Given the description of an element on the screen output the (x, y) to click on. 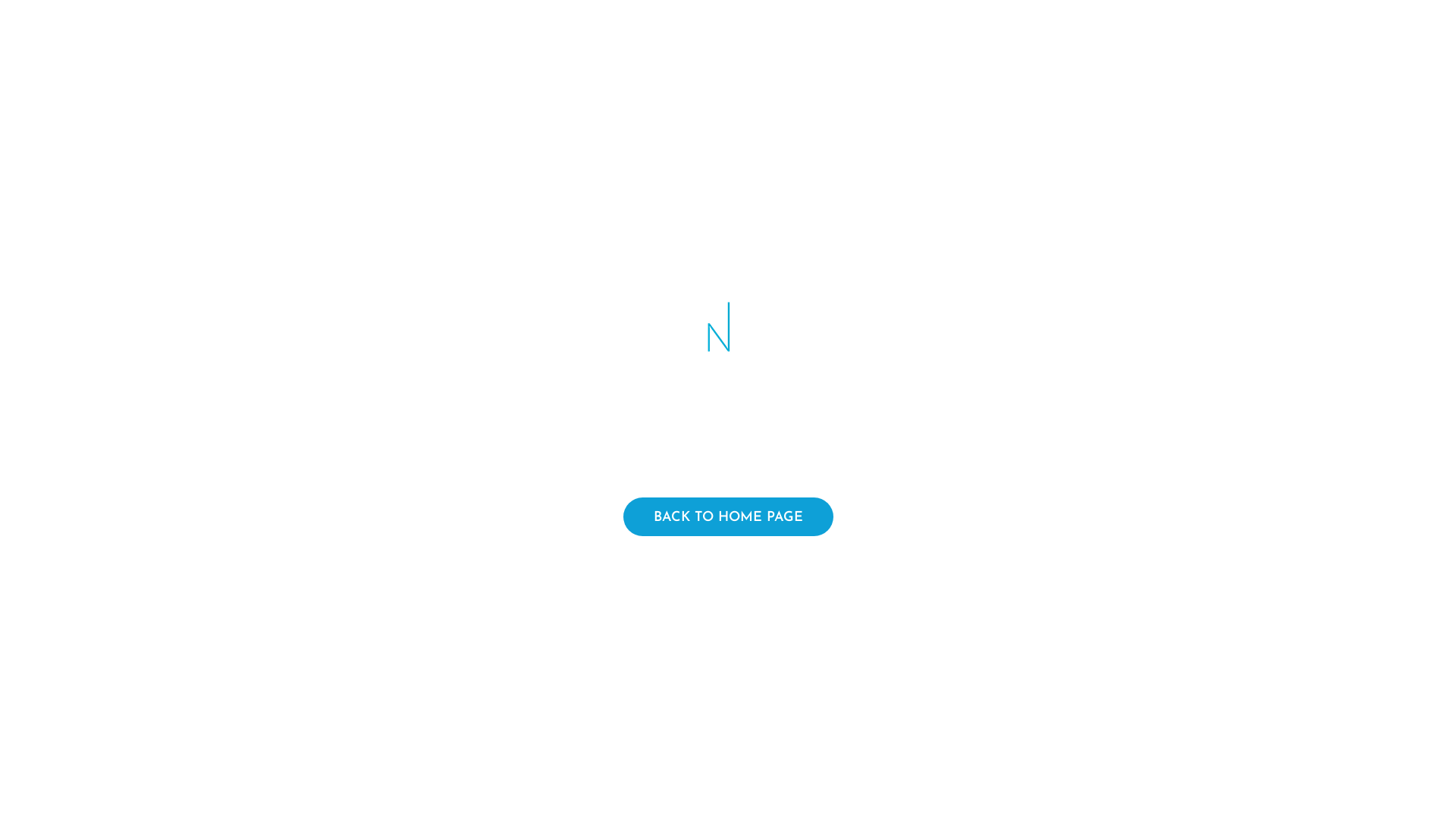
BACK TO HOME PAGE Element type: text (728, 516)
Dance-Writer-Logo_Reversed_header Element type: hover (727, 336)
